Given the description of an element on the screen output the (x, y) to click on. 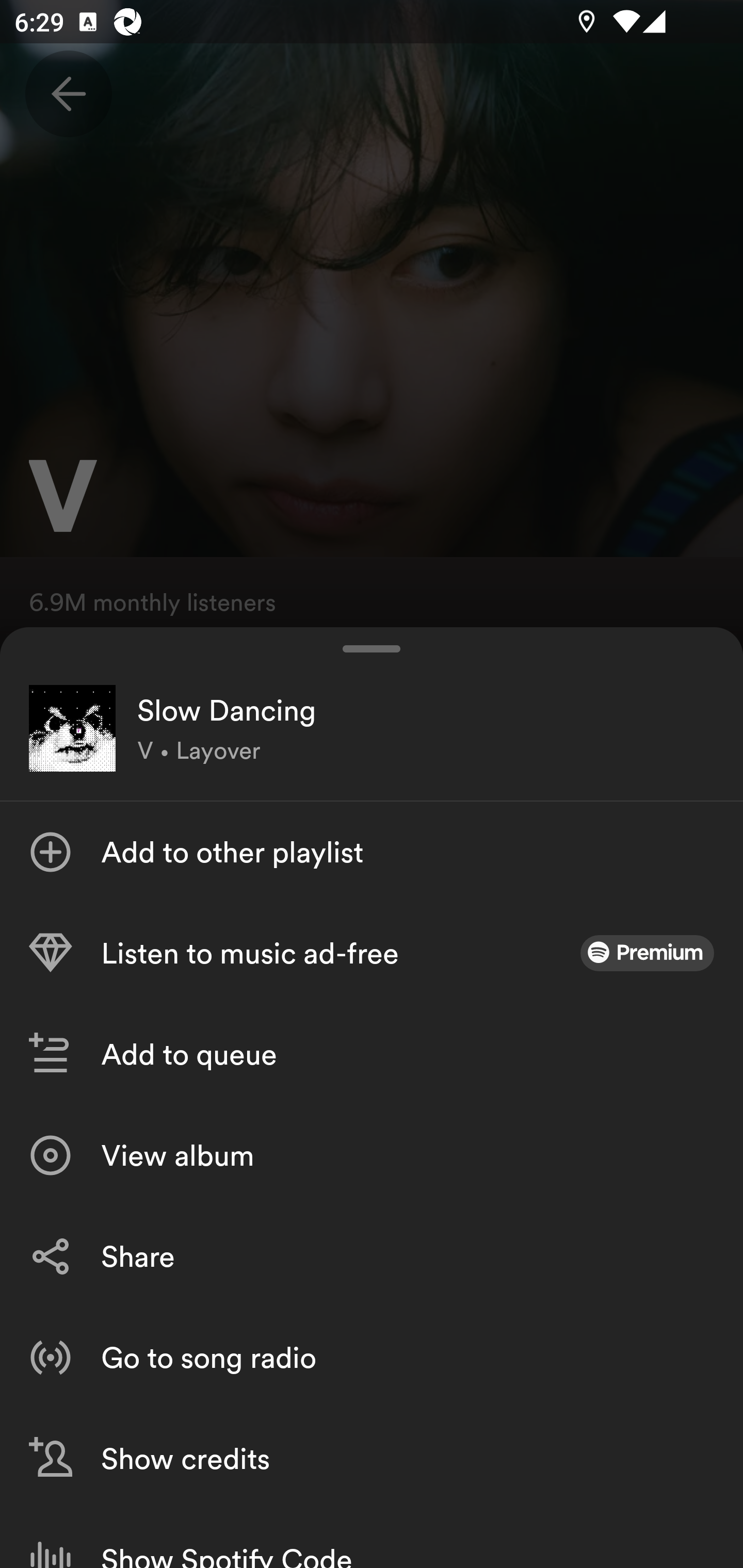
Add to other playlist (371, 852)
Listen to music ad-free (371, 953)
Add to queue (371, 1054)
View album (371, 1155)
Share (371, 1256)
Go to song radio (371, 1357)
Show credits (371, 1458)
Show Spotify Code (371, 1538)
